Given the description of an element on the screen output the (x, y) to click on. 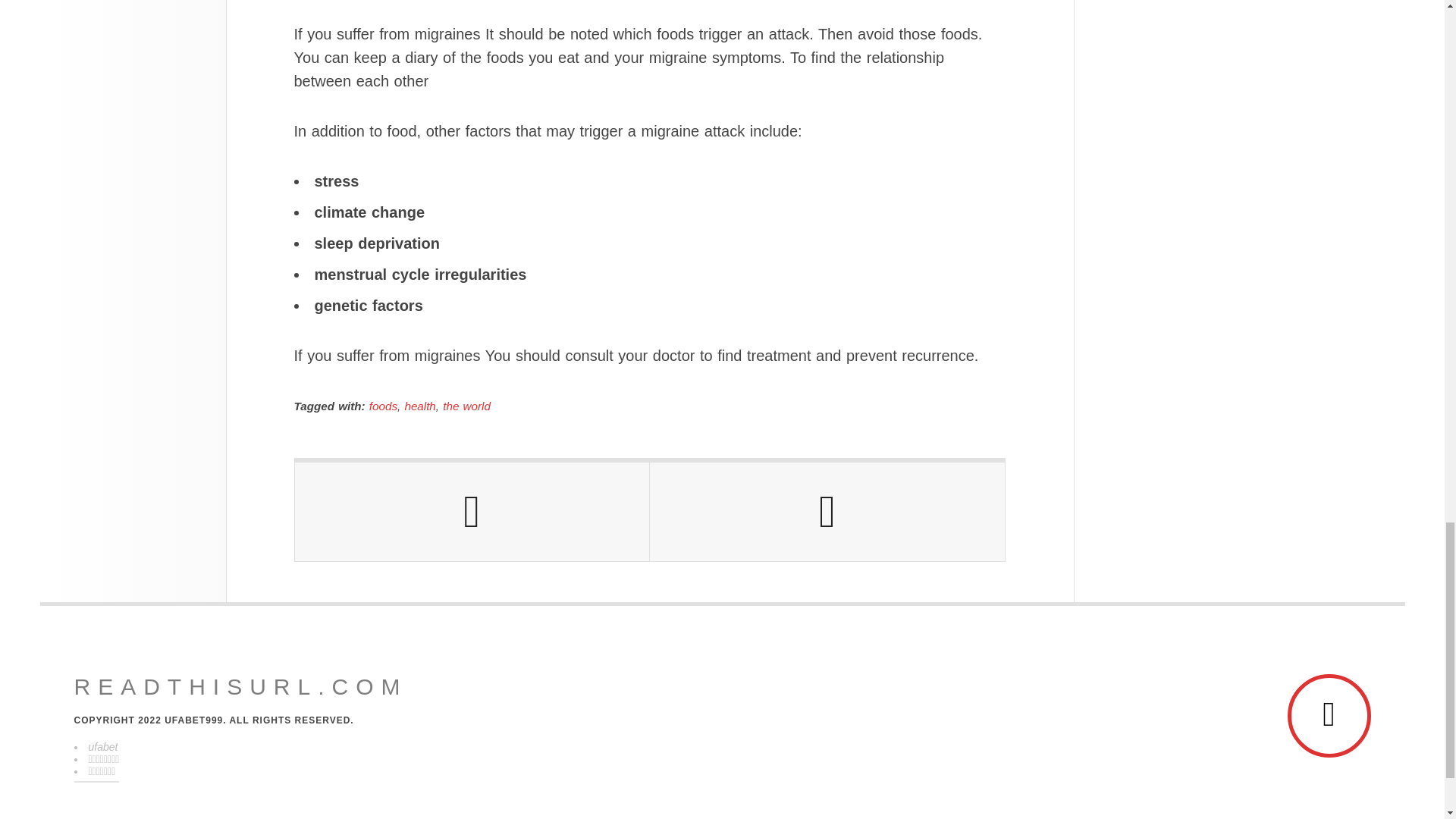
Previous Post (471, 511)
READTHISURL.COM (240, 687)
foods (383, 405)
ufabet (102, 746)
Next Post (826, 511)
readthisurl.com (240, 687)
health (419, 405)
the world (466, 405)
